Given the description of an element on the screen output the (x, y) to click on. 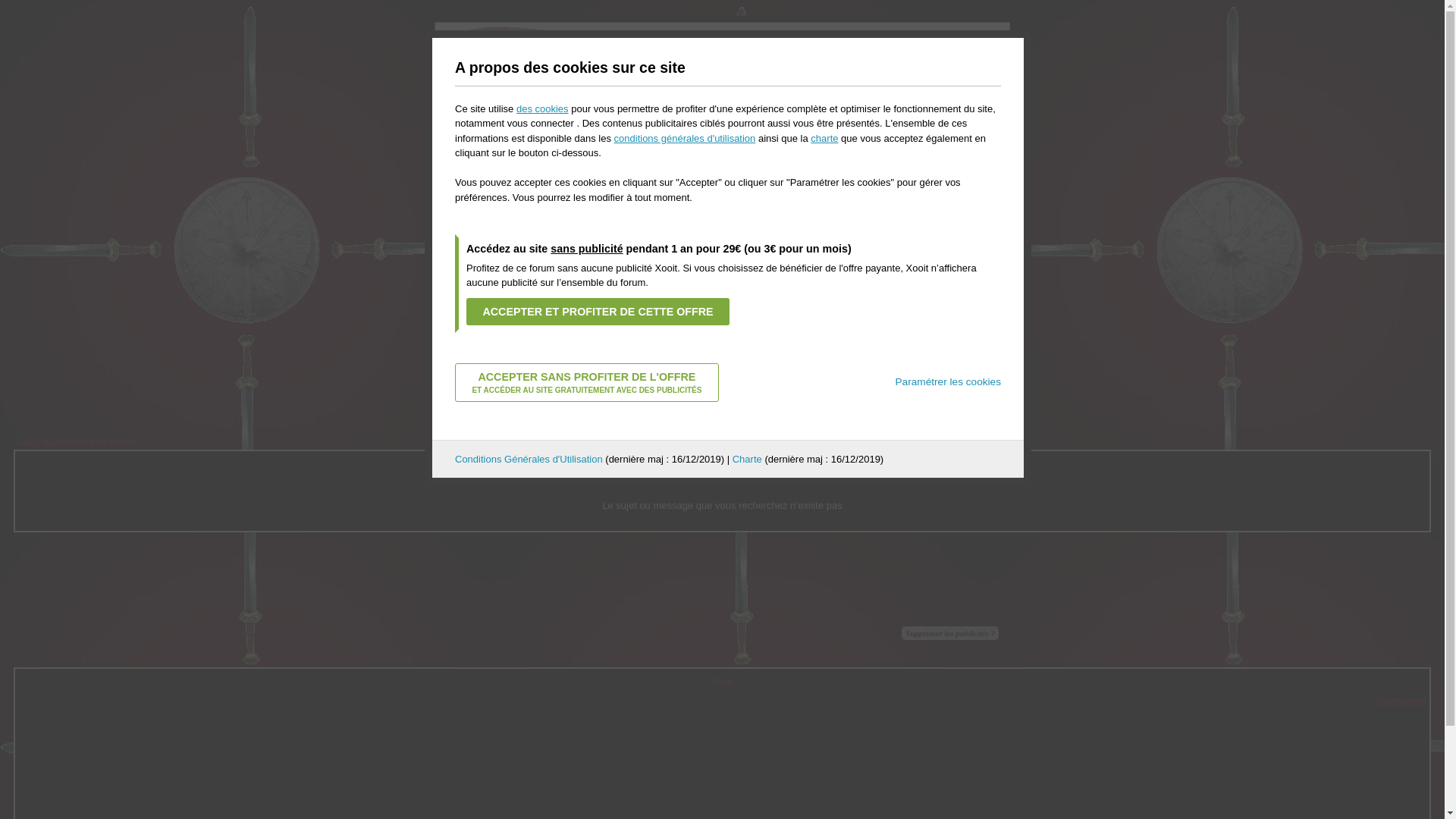
[Connexion] Element type: text (1401, 700)
Caius Mucius Index du Forum Element type: text (75, 441)
